Given the description of an element on the screen output the (x, y) to click on. 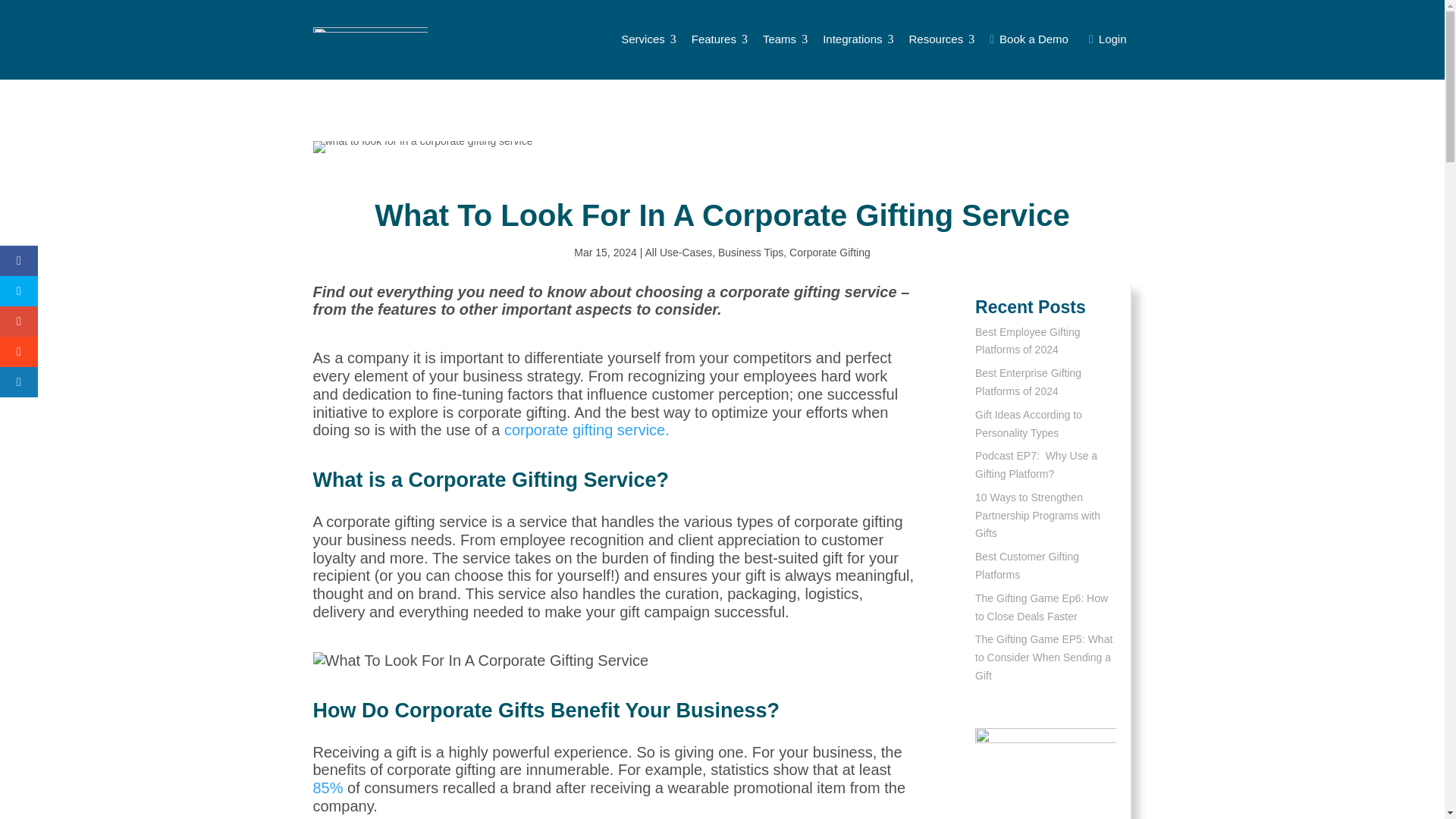
white (857, 38)
